Given the description of an element on the screen output the (x, y) to click on. 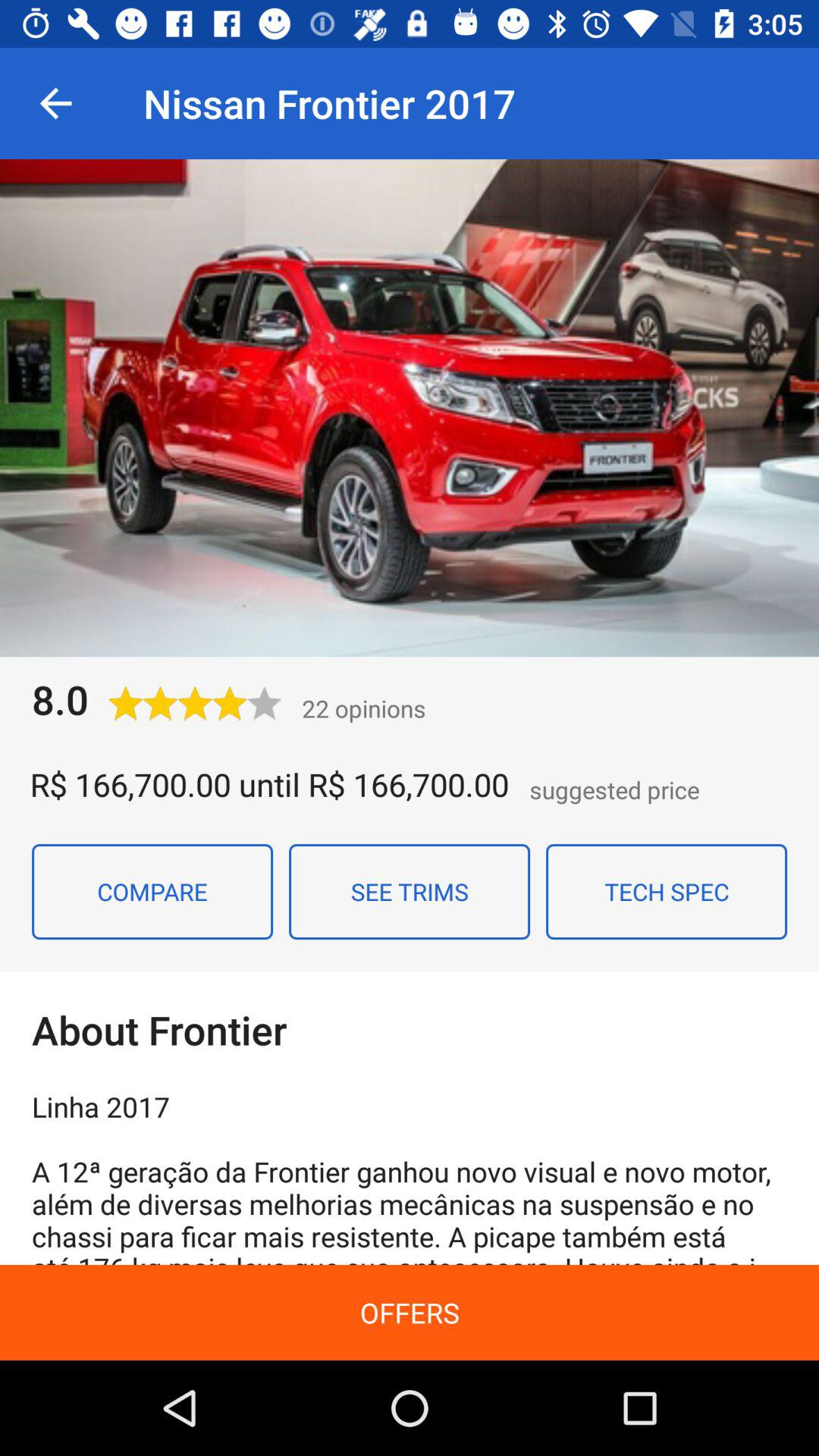
turn on item above the linha 2017 a item (666, 891)
